Given the description of an element on the screen output the (x, y) to click on. 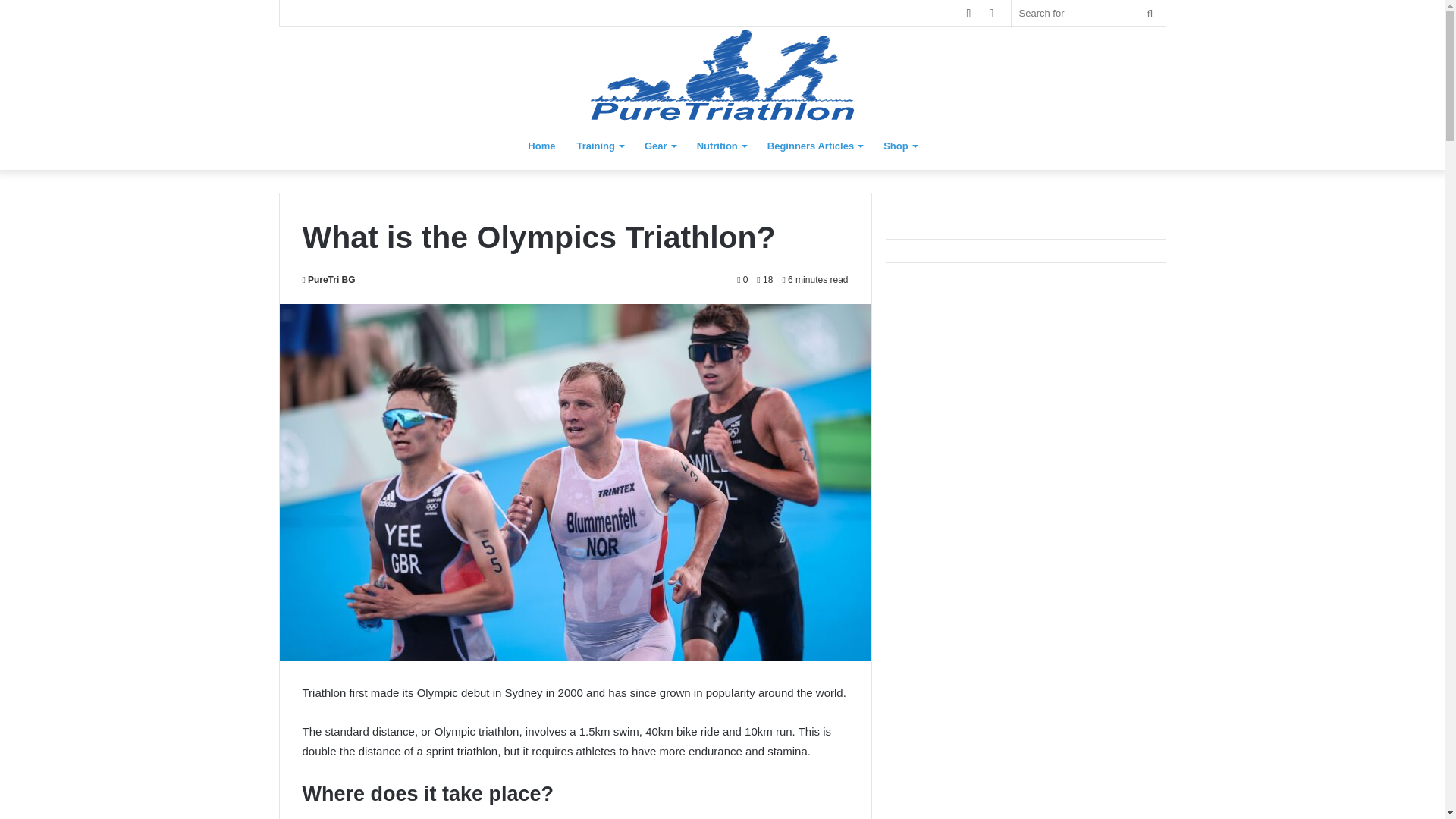
Training (599, 145)
Gear (659, 145)
PureTri BG (328, 279)
Beginners Articles (814, 145)
Search for (1088, 13)
Search for (1149, 13)
Nutrition (721, 145)
PureTri BG (328, 279)
Home (541, 145)
Puretriathlon.co.uk (721, 74)
Shop (899, 145)
